Given the description of an element on the screen output the (x, y) to click on. 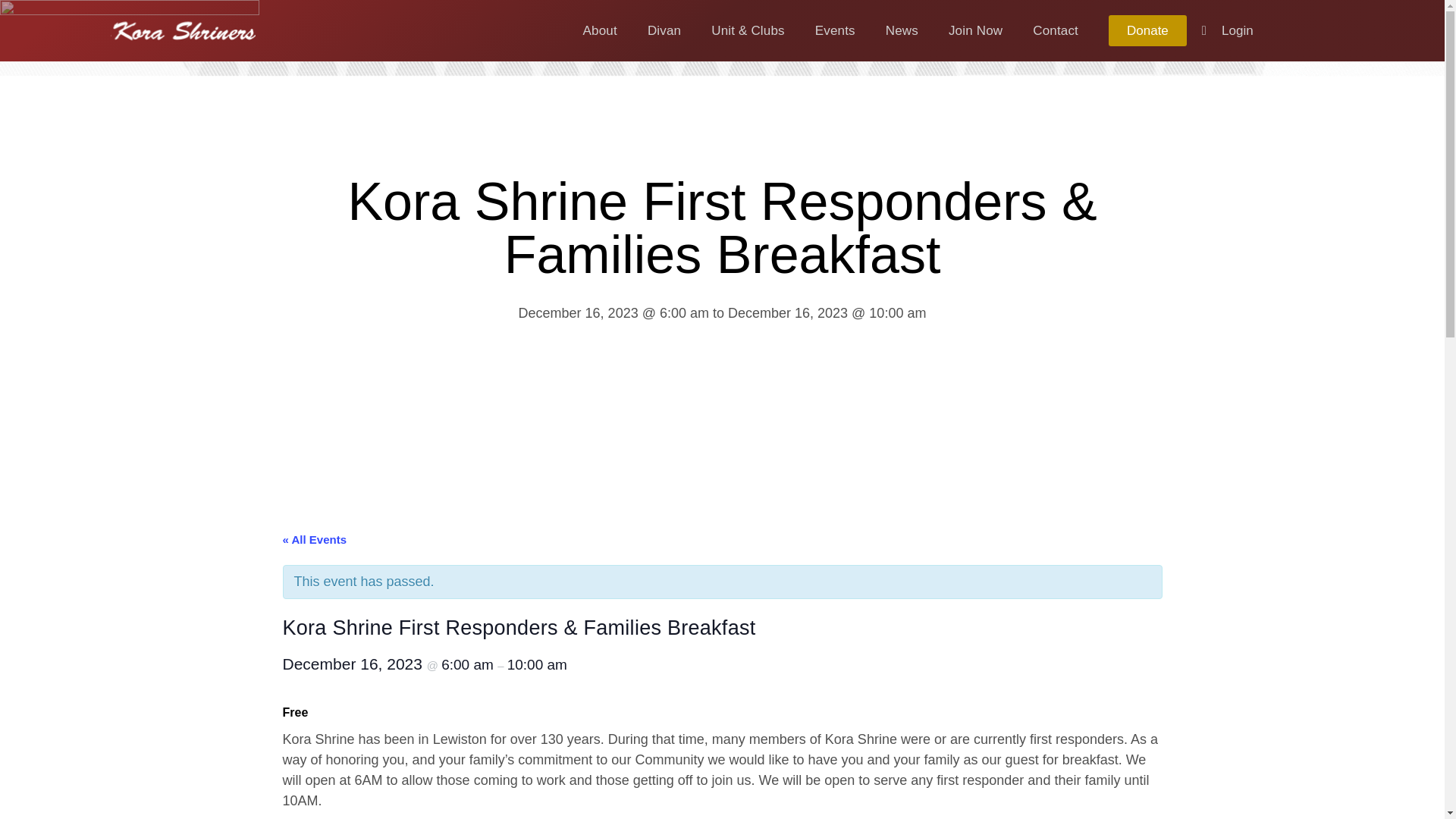
Login (1227, 30)
Contact (1055, 30)
Events (834, 30)
Join Now (975, 30)
About (599, 30)
Divan (663, 30)
Donate (1147, 30)
News (901, 30)
